Given the description of an element on the screen output the (x, y) to click on. 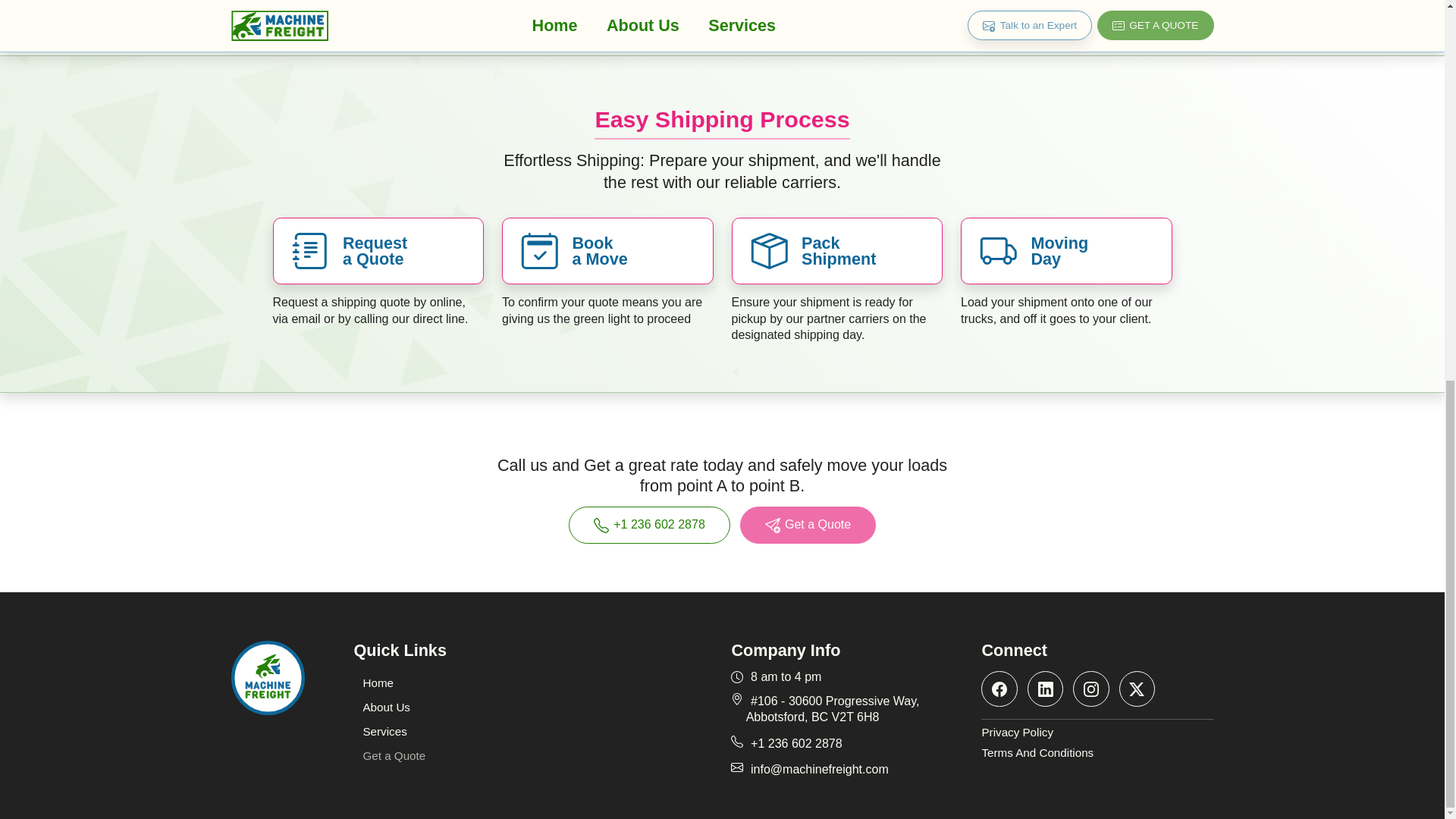
Home (378, 682)
Privacy Policy (1096, 732)
Get a Quote (393, 754)
About Us (386, 707)
Get a Quote (807, 524)
Terms And Conditions (1096, 753)
Services (383, 731)
